Given the description of an element on the screen output the (x, y) to click on. 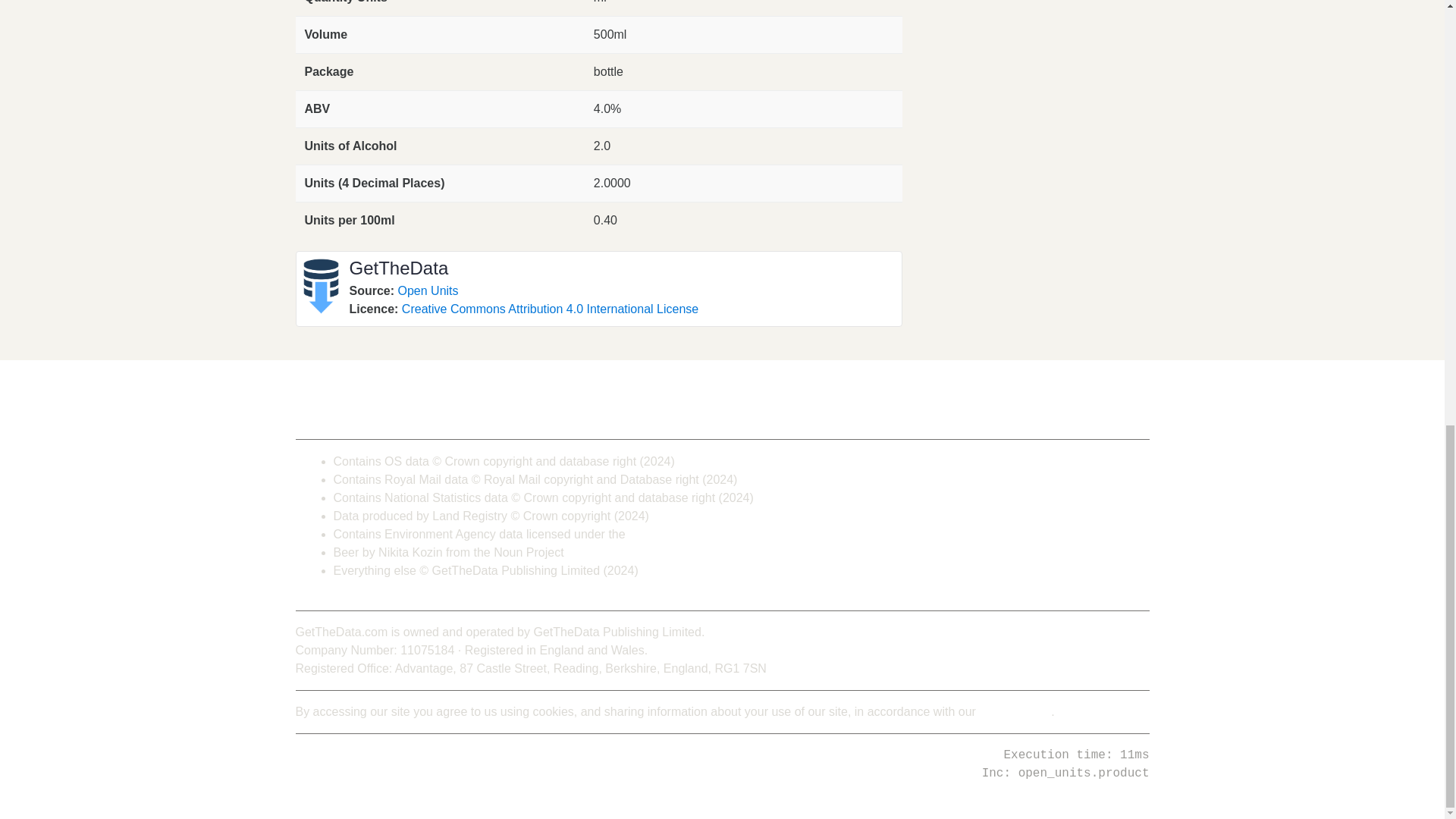
privacy policy (1014, 711)
Creative Commons Attribution 4.0 International License (549, 308)
Open Units (427, 290)
Open Government Licence v3.0 (713, 533)
